Given the description of an element on the screen output the (x, y) to click on. 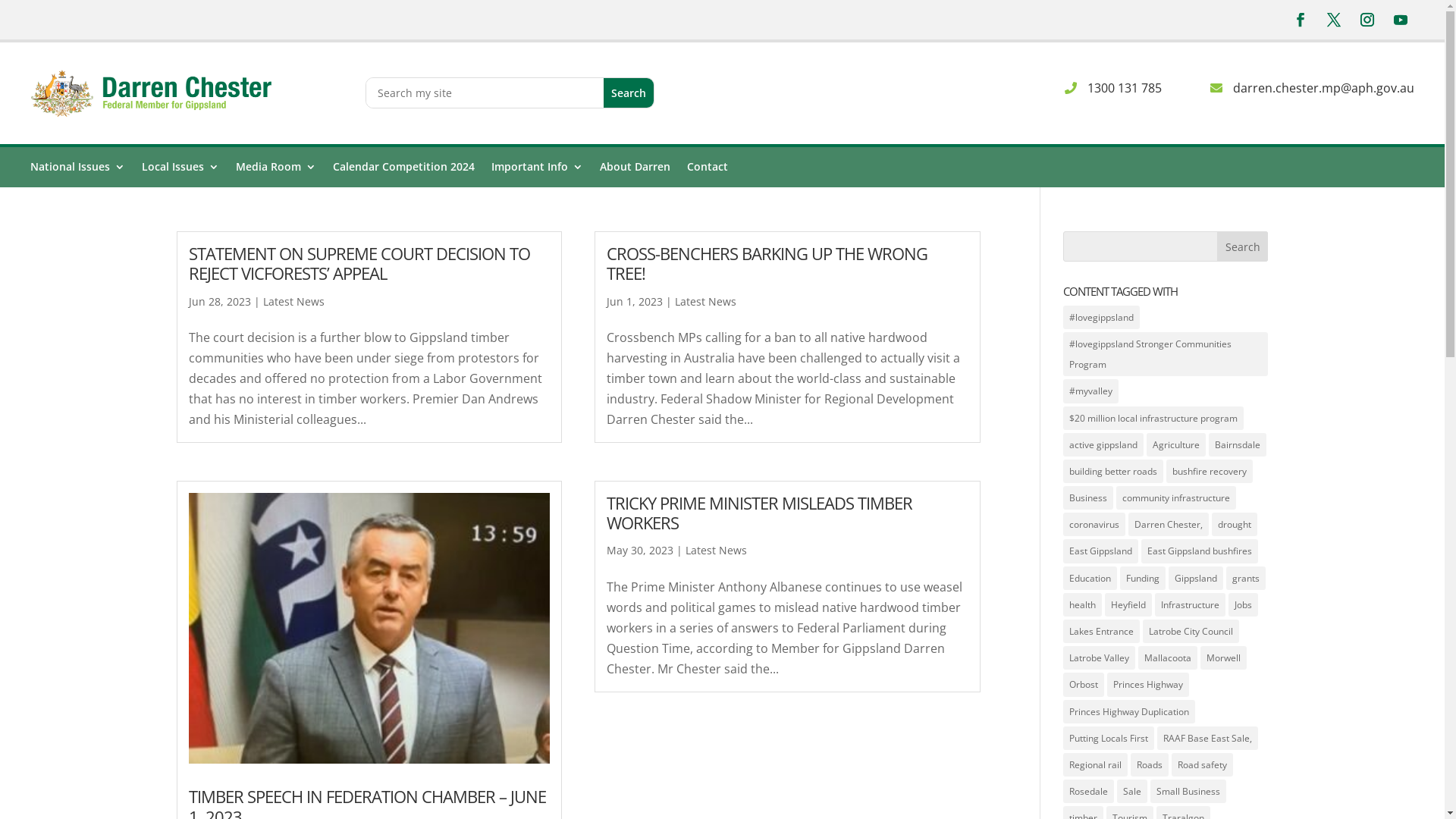
National Issues Element type: text (77, 169)
drought Element type: text (1234, 524)
Darren Chester, Element type: text (1168, 524)
Lakes Entrance Element type: text (1101, 631)
darren.chester.mp@aph.gov.au Element type: text (1289, 87)
Putting Locals First Element type: text (1108, 737)
Heyfield Element type: text (1127, 604)
Funding Element type: text (1142, 577)
Latest News Element type: text (715, 549)
Princes Highway Duplication Element type: text (1129, 711)
RAAF Base East Sale, Element type: text (1207, 737)
#lovegippsland Element type: text (1101, 317)
Jobs Element type: text (1243, 604)
Media Room Element type: text (275, 169)
Calendar Competition 2024 Element type: text (403, 169)
Orbost Element type: text (1083, 684)
Small Business Element type: text (1188, 791)
Roads Element type: text (1149, 764)
$20 million local infrastructure program Element type: text (1153, 417)
Contact Element type: text (707, 169)
community infrastructure Element type: text (1176, 497)
Infrastructure Element type: text (1189, 604)
Regional rail Element type: text (1095, 764)
Follow on X Element type: hover (1333, 19)
1300 131 785 Element type: text (1090, 87)
logo@2x Element type: hover (155, 92)
Princes Highway Element type: text (1148, 684)
Sale Element type: text (1132, 791)
Follow on Facebook Element type: hover (1300, 19)
TRICKY PRIME MINISTER MISLEADS TIMBER WORKERS Element type: text (759, 512)
Business Element type: text (1088, 497)
CROSS-BENCHERS BARKING UP THE WRONG TREE! Element type: text (766, 262)
Gippsland Element type: text (1195, 577)
Follow on Youtube Element type: hover (1400, 19)
Search Element type: text (1242, 246)
bushfire recovery Element type: text (1209, 471)
Latrobe Valley Element type: text (1099, 657)
Important Info Element type: text (537, 169)
active gippsland Element type: text (1103, 444)
Latest News Element type: text (292, 301)
coronavirus Element type: text (1094, 524)
Morwell Element type: text (1223, 657)
Follow on Instagram Element type: hover (1366, 19)
#myvalley Element type: text (1090, 390)
Bairnsdale Element type: text (1237, 444)
Rosedale Element type: text (1088, 791)
health Element type: text (1082, 604)
Local Issues Element type: text (180, 169)
Education Element type: text (1090, 577)
Latrobe City Council Element type: text (1190, 631)
grants Element type: text (1245, 577)
Latest News Element type: text (705, 301)
Mallacoota Element type: text (1167, 657)
About Darren Element type: text (634, 169)
Agriculture Element type: text (1175, 444)
East Gippsland bushfires Element type: text (1199, 550)
building better roads Element type: text (1113, 471)
East Gippsland Element type: text (1100, 550)
Road safety Element type: text (1202, 764)
Search Element type: text (628, 92)
#lovegippsland Stronger Communities Program Element type: text (1165, 354)
